Given the description of an element on the screen output the (x, y) to click on. 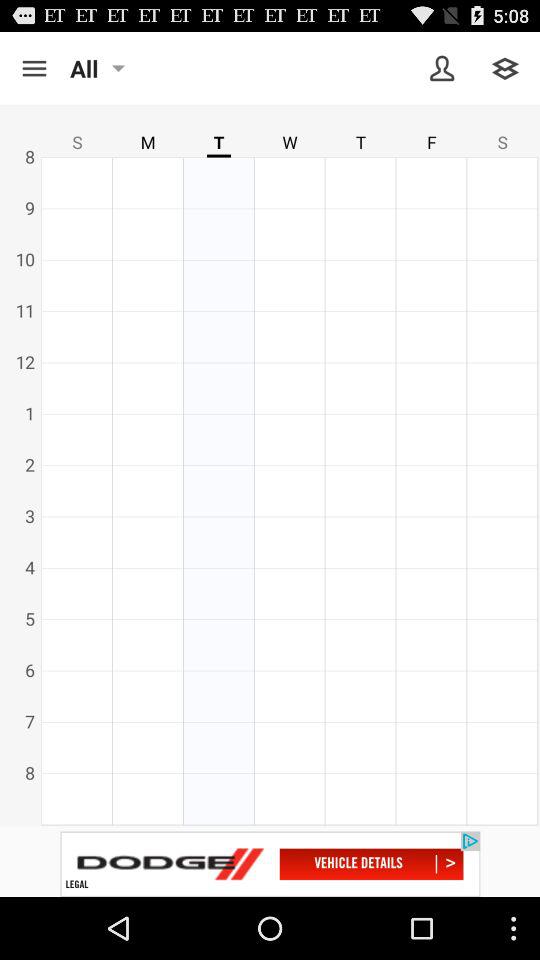
menu (34, 68)
